Given the description of an element on the screen output the (x, y) to click on. 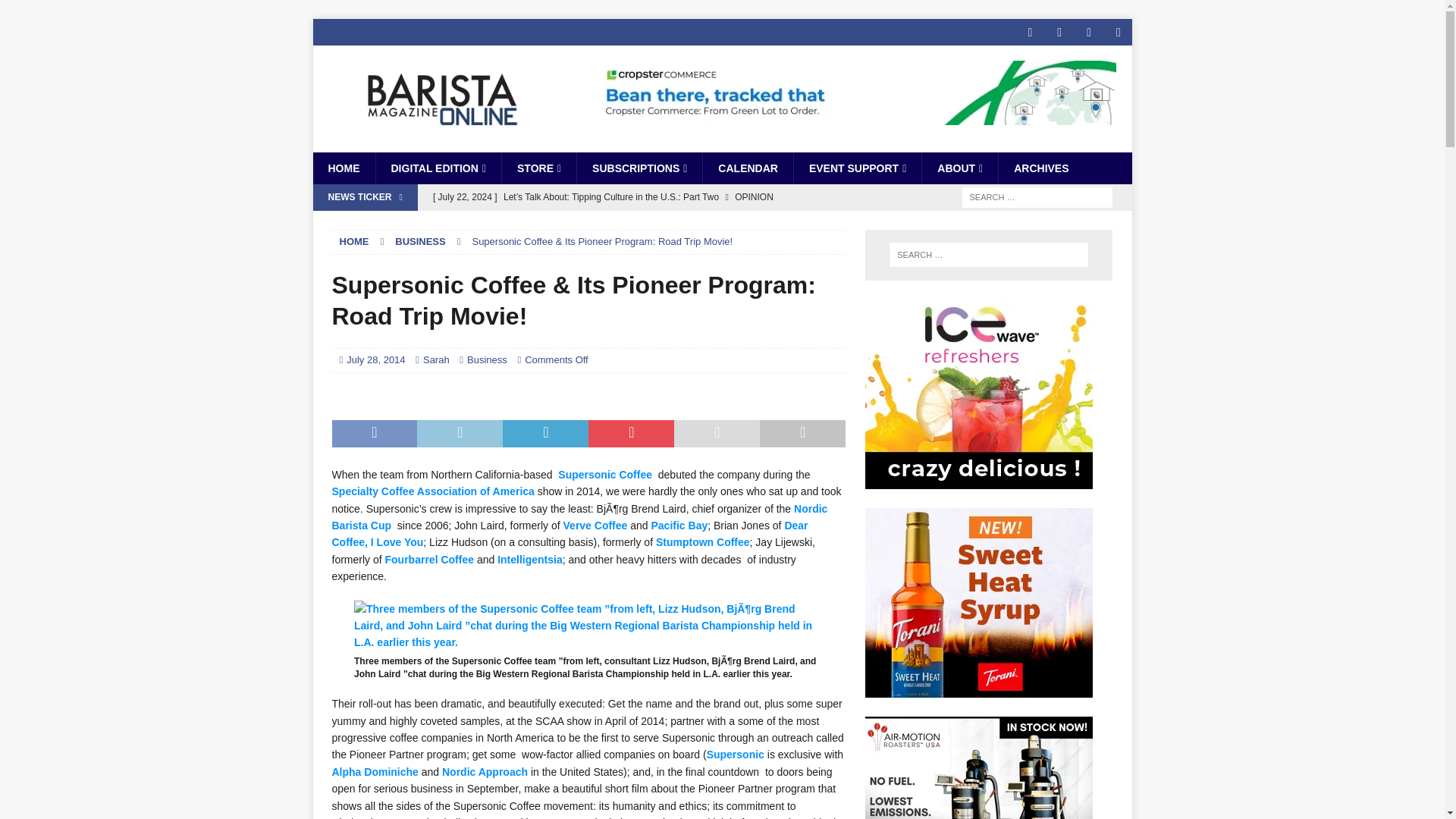
DIGITAL EDITION (437, 168)
6 Ways to Expand Your Specialty-Coffee Knowledge (634, 222)
HOME (343, 168)
